Given the description of an element on the screen output the (x, y) to click on. 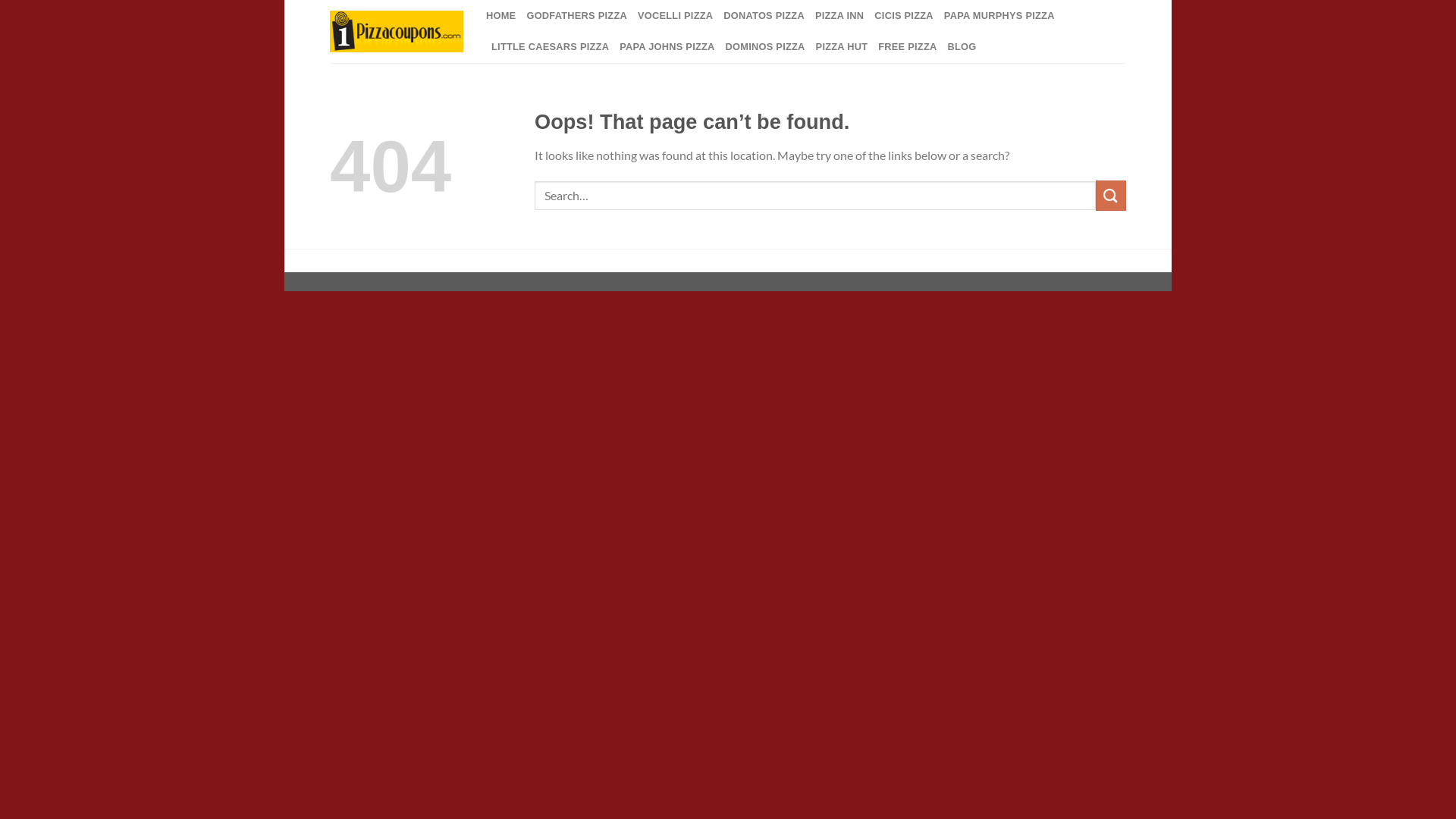
CICIS PIZZA Element type: text (903, 15)
LITTLE CAESARS PIZZA Element type: text (549, 46)
DONATOS PIZZA Element type: text (763, 15)
PAPA MURPHYS PIZZA Element type: text (999, 15)
BLOG Element type: text (961, 46)
HOME Element type: text (500, 15)
DOMINOS PIZZA Element type: text (765, 46)
GODFATHERS PIZZA Element type: text (576, 15)
FREE PIZZA Element type: text (907, 46)
PIZZA INN Element type: text (839, 15)
PAPA JOHNS PIZZA Element type: text (666, 46)
VOCELLI PIZZA Element type: text (674, 15)
PIZZA HUT Element type: text (841, 46)
